Given the description of an element on the screen output the (x, y) to click on. 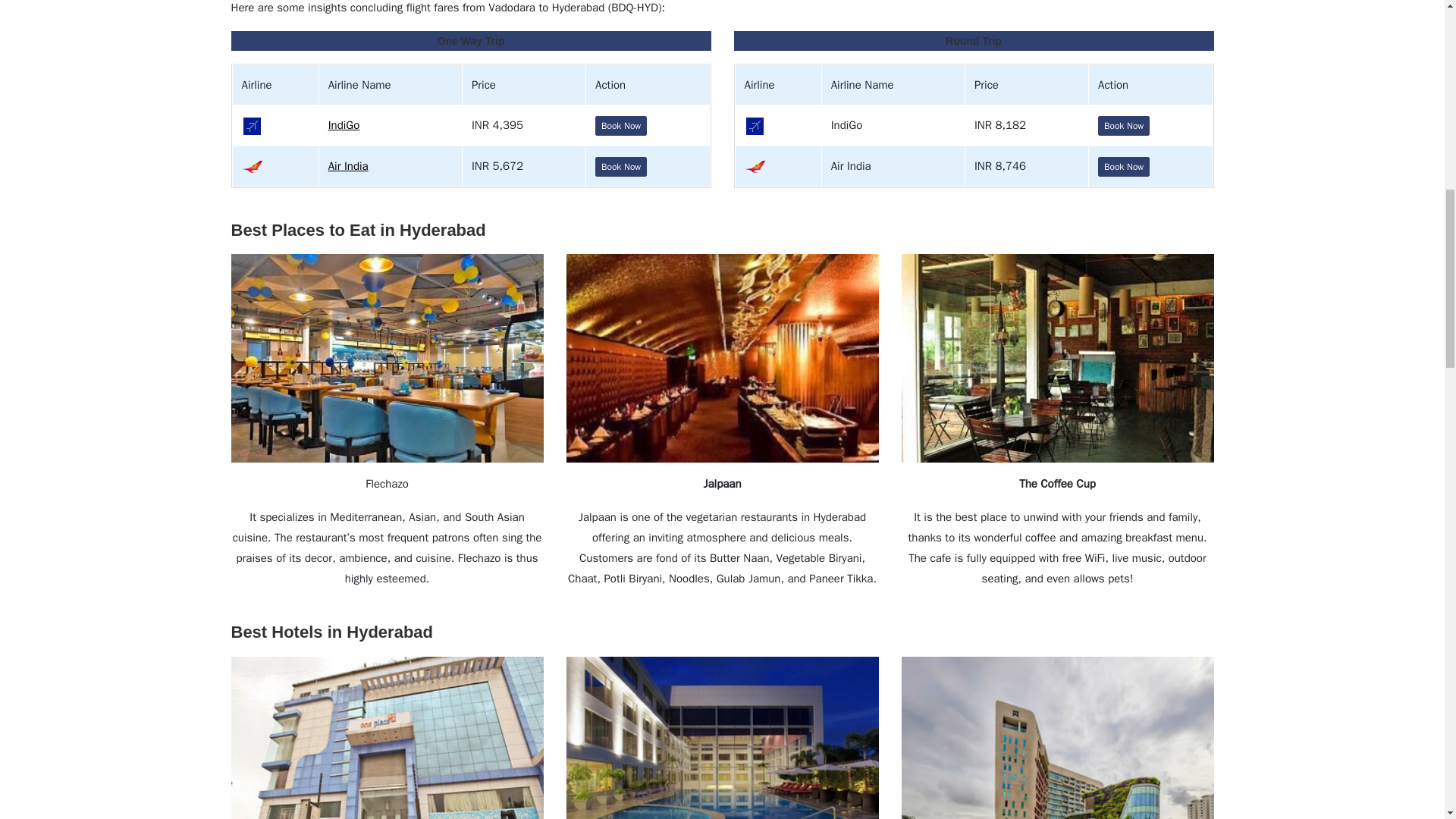
Radisson Blu Plaza Hotel Hyderabad - Lowest Flight Fares (721, 737)
Book Now (1123, 166)
The Coffee Cup Hyderabad - Lowest Flight Fares (1056, 357)
IndiGo (344, 124)
AI - Lowest Flight Fares (251, 167)
Book Now (620, 166)
Book Now (1123, 125)
Flechazo Restaurant Hyderabad - Lowest Flight Fares (386, 357)
Jalpaan Restaurant Hyderabad - Lowest Flight Fares (721, 357)
AI - Lowest Flight Fares (754, 167)
Air India (348, 165)
Hotel One Place Hotel Hyderabad - Lowest Flight Fares (386, 737)
Book Now (620, 125)
